Given the description of an element on the screen output the (x, y) to click on. 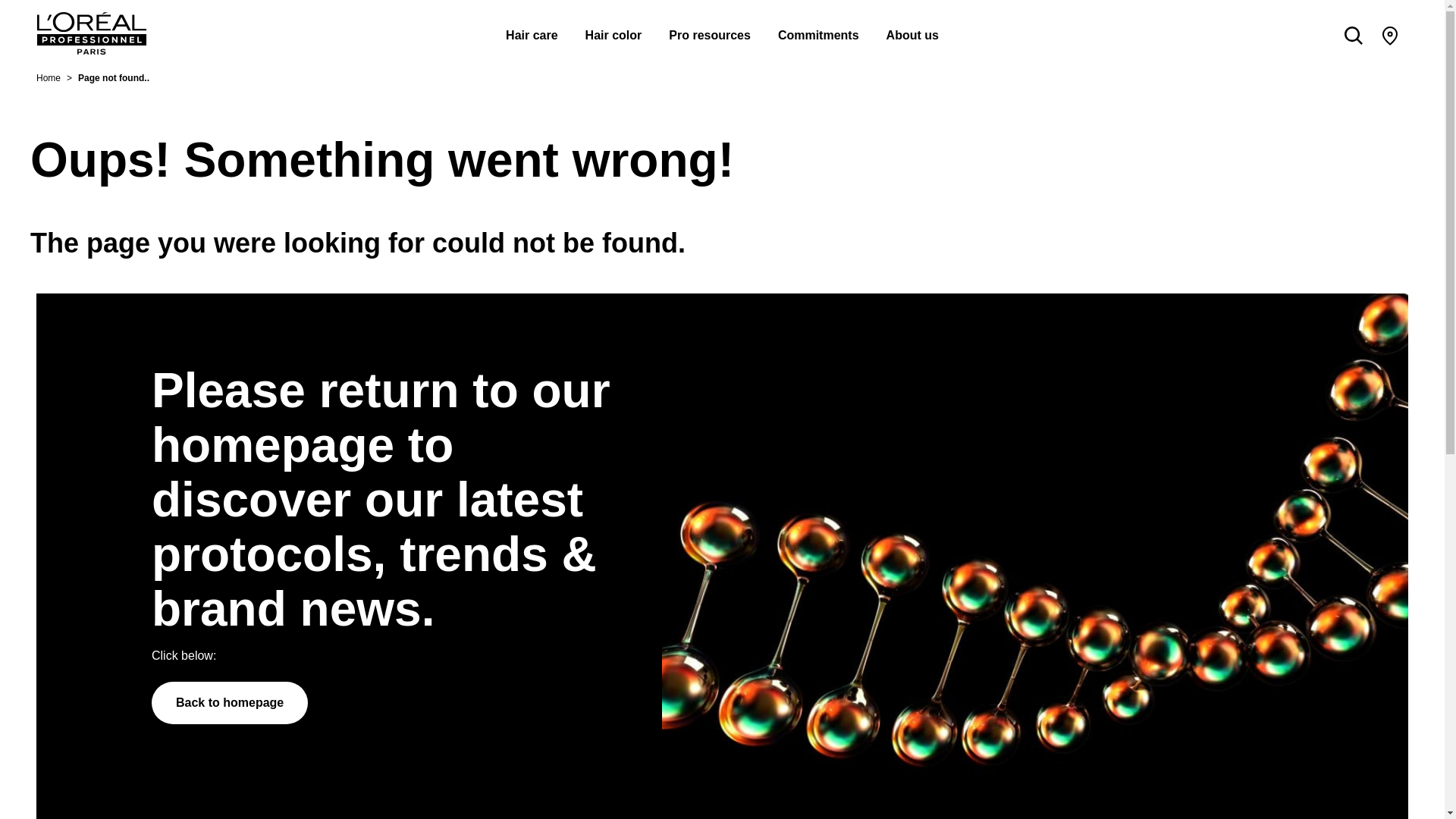
Hair color (613, 28)
Hair care (531, 28)
